Given the description of an element on the screen output the (x, y) to click on. 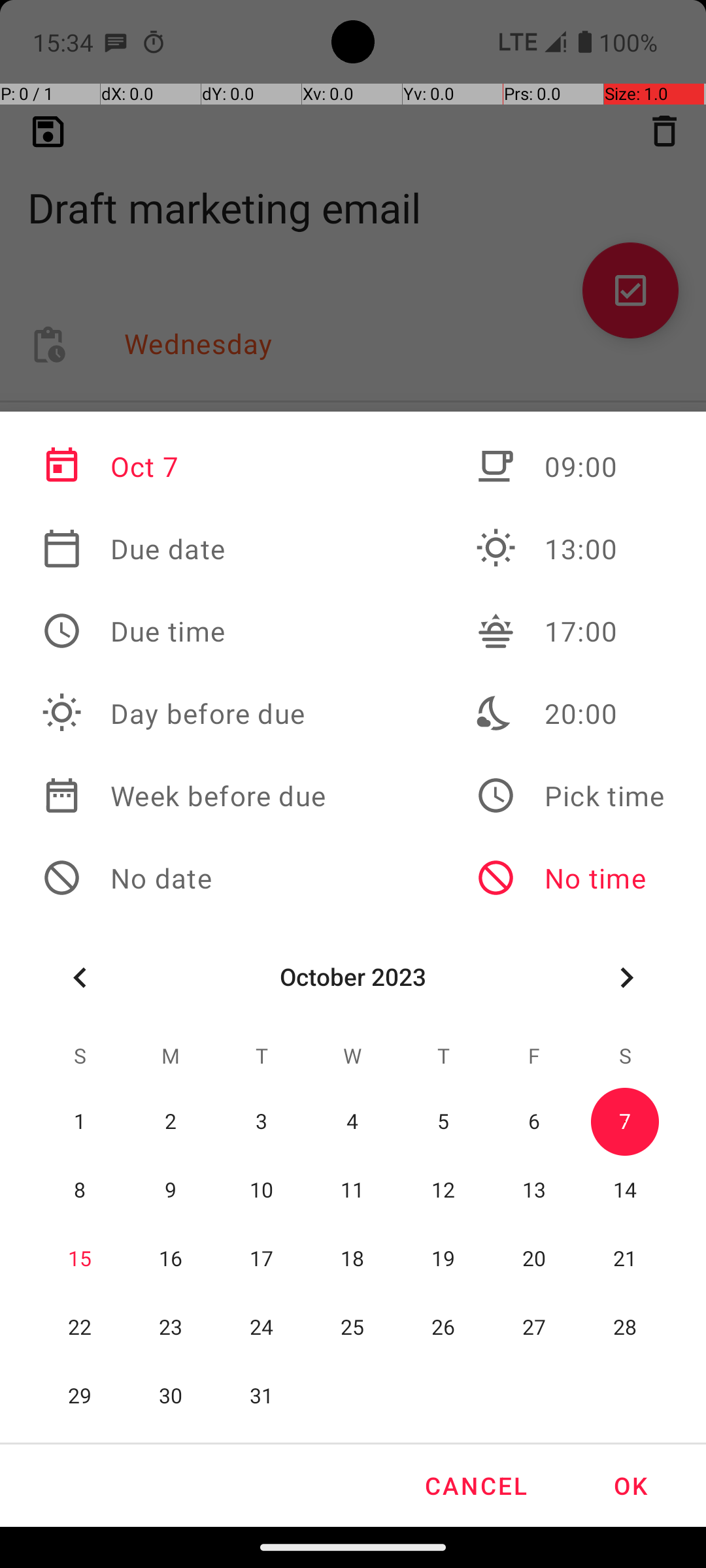
Oct 7 Element type: android.widget.CompoundButton (183, 466)
